Given the description of an element on the screen output the (x, y) to click on. 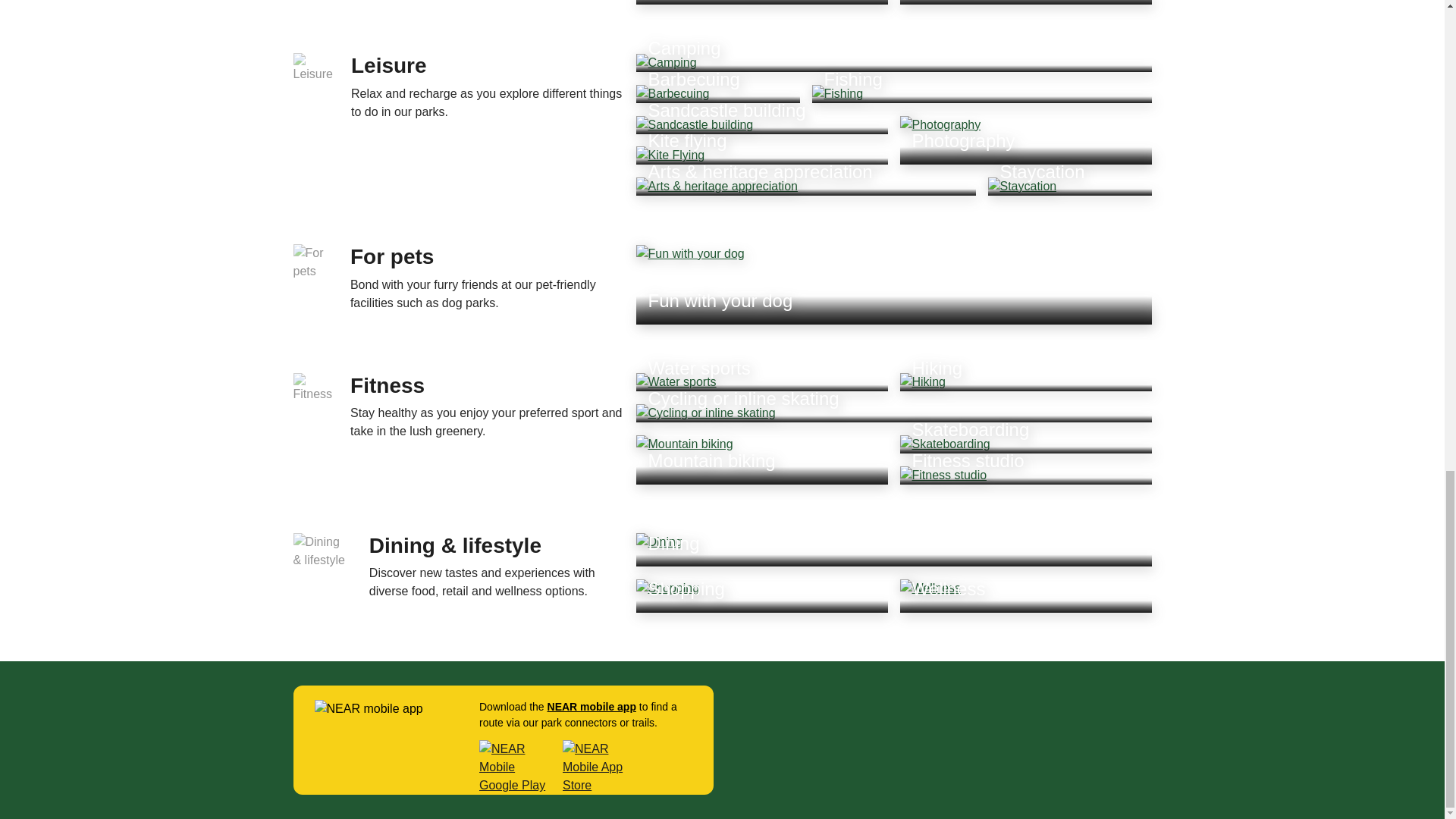
NEAR Mobile App Store (600, 767)
NEAR mobile app (591, 706)
NEAR Mobile Google Play (516, 767)
